Given the description of an element on the screen output the (x, y) to click on. 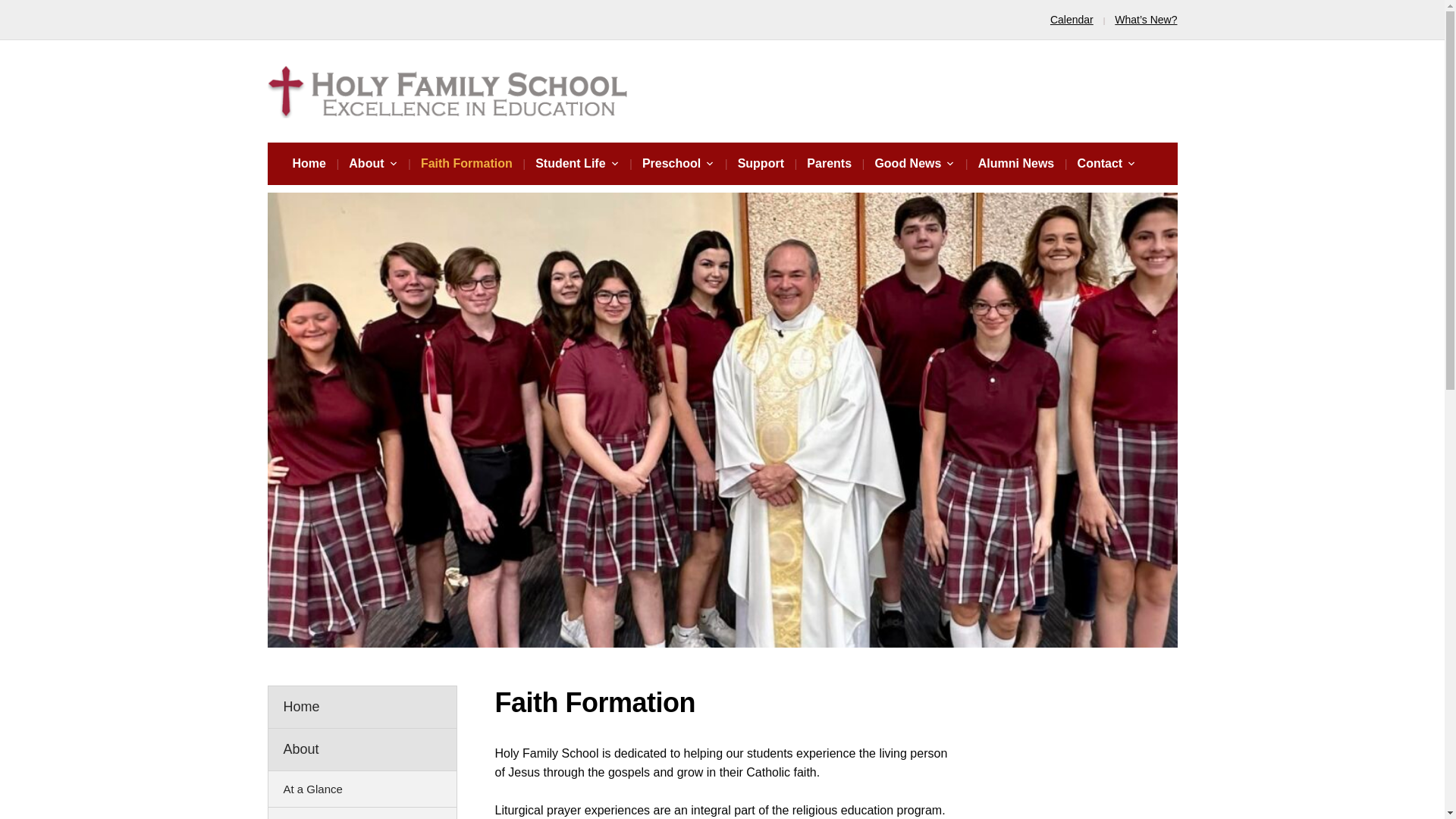
Calendar (1071, 19)
Home (308, 163)
About (372, 163)
